Given the description of an element on the screen output the (x, y) to click on. 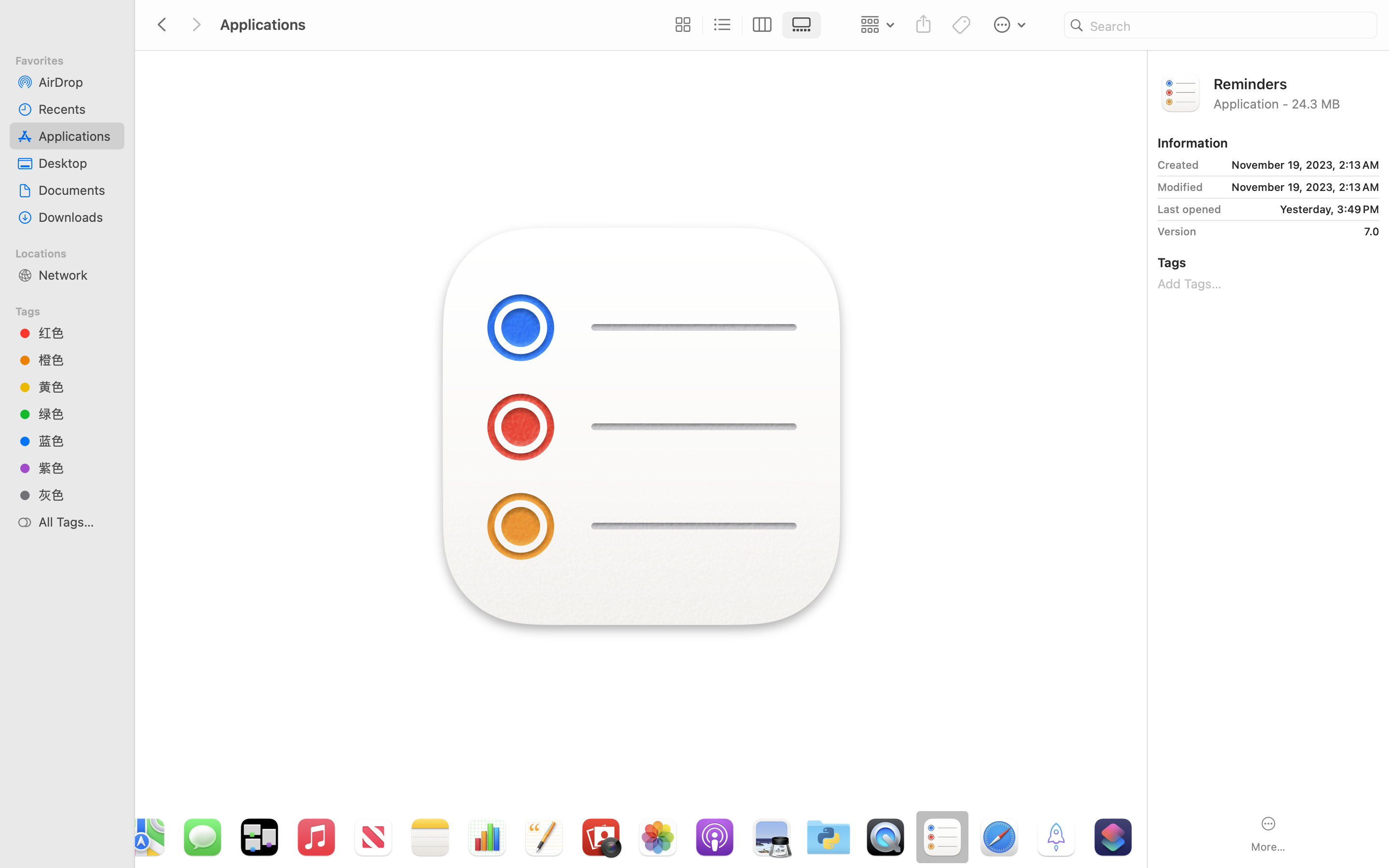
Desktop Element type: AXStaticText (77, 162)
Documents Element type: AXStaticText (77, 189)
Modified Element type: AXStaticText (1179, 186)
November 19, 2023, 2:13 AM Element type: AXStaticText (1292, 164)
Information Element type: AXStaticText (1192, 142)
